Given the description of an element on the screen output the (x, y) to click on. 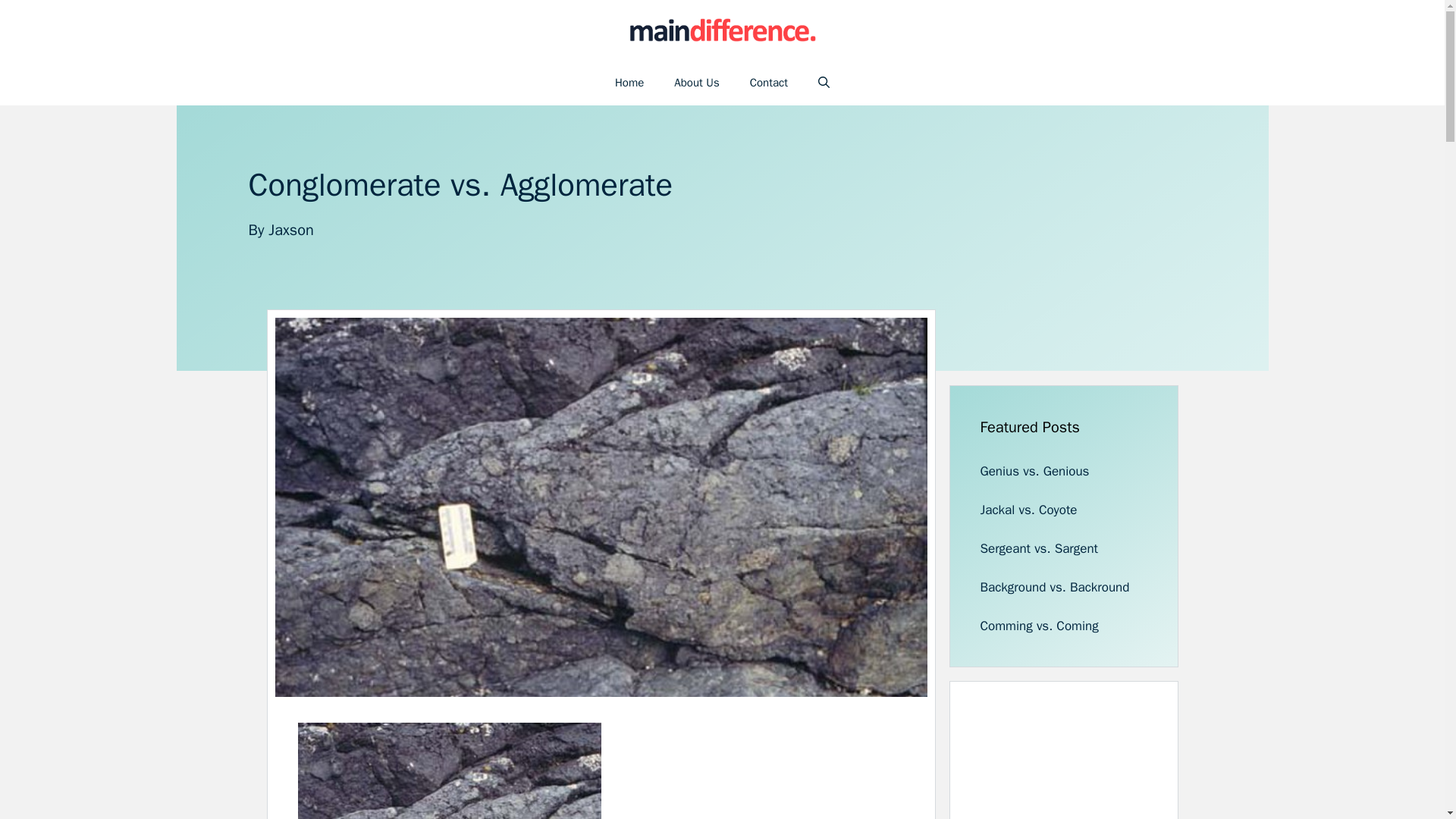
Jaxson (290, 229)
Sergeant vs. Sargent (1038, 548)
655px-agglomerate (448, 770)
Contact (769, 82)
Advertisement (1093, 765)
About Us (696, 82)
Jackal vs. Coyote (1028, 509)
Home (629, 82)
Background vs. Backround (1054, 587)
Genius vs. Genious (1034, 471)
Comming vs. Coming (1038, 625)
